Given the description of an element on the screen output the (x, y) to click on. 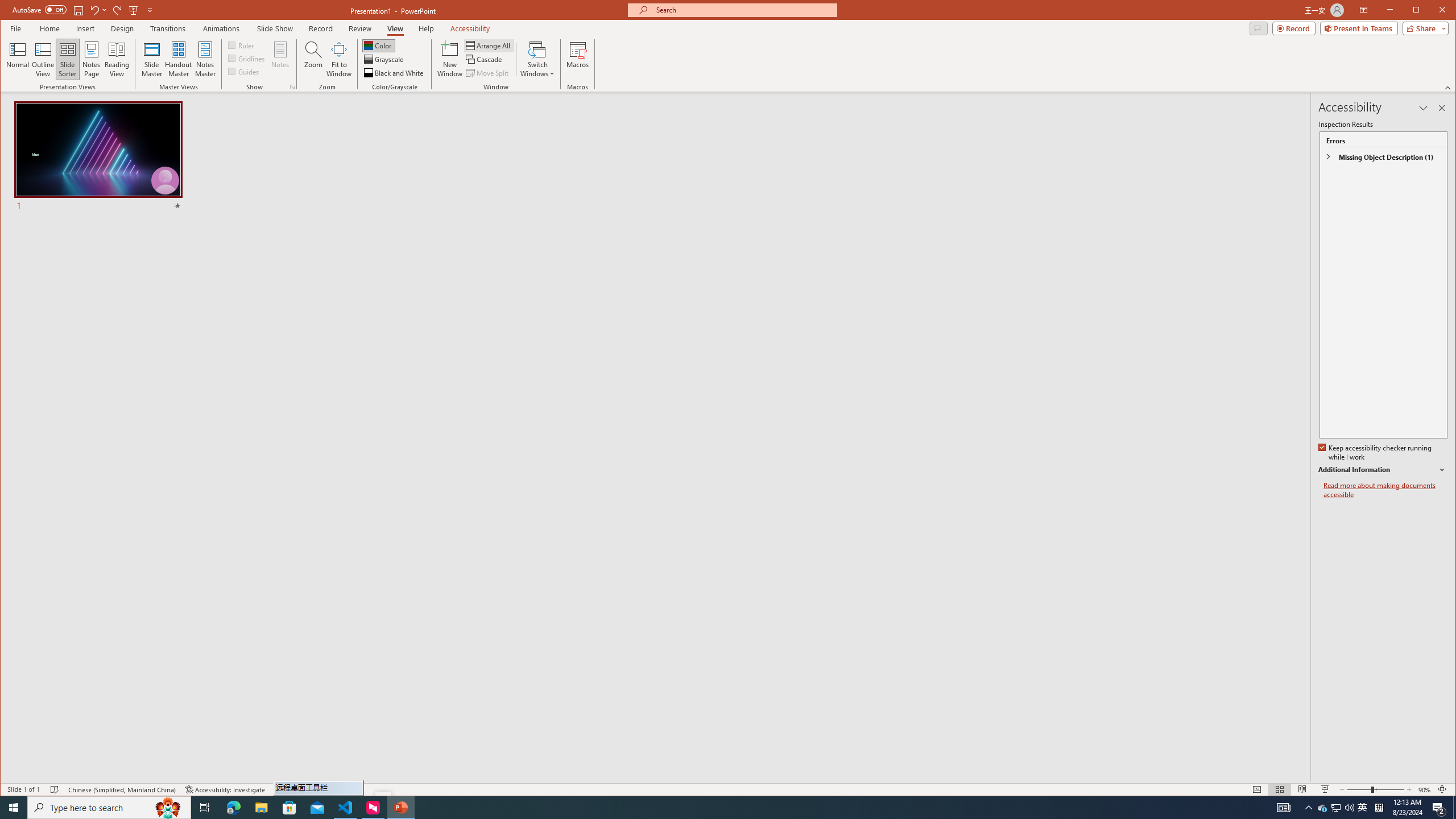
Grayscale (384, 59)
Macros (576, 59)
Action Center, 2 new notifications (1439, 807)
Cascade (484, 59)
Zoom... (312, 59)
